Given the description of an element on the screen output the (x, y) to click on. 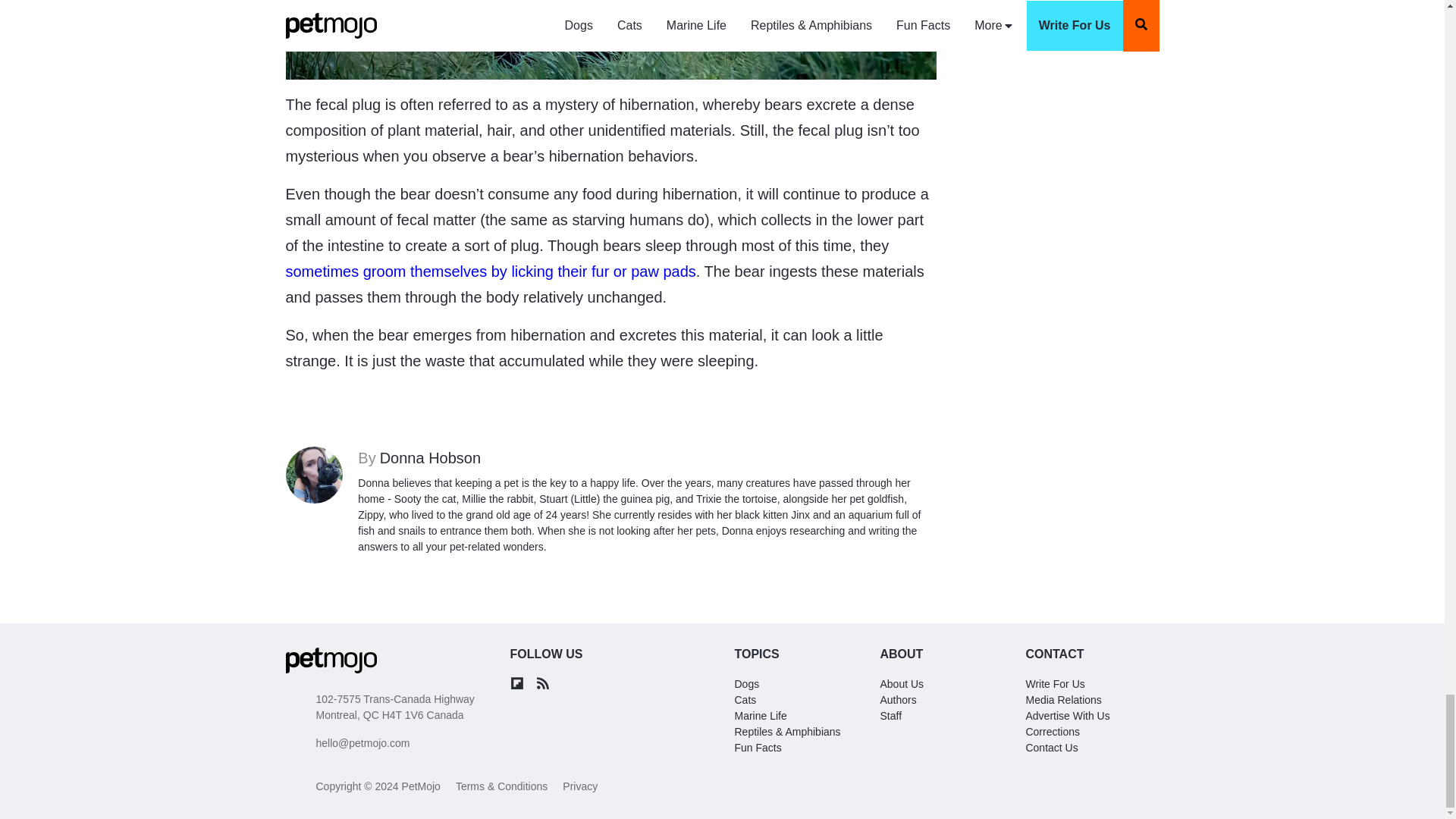
Media Relations (1062, 699)
Advertise With Us (1067, 715)
Fun Facts (756, 747)
sometimes groom themselves by licking their fur or paw pads (490, 271)
About Us (901, 684)
Authors (897, 699)
Dogs (745, 684)
Cats (744, 699)
Write For Us (1054, 684)
Staff (890, 715)
Marine Life (759, 715)
